Given the description of an element on the screen output the (x, y) to click on. 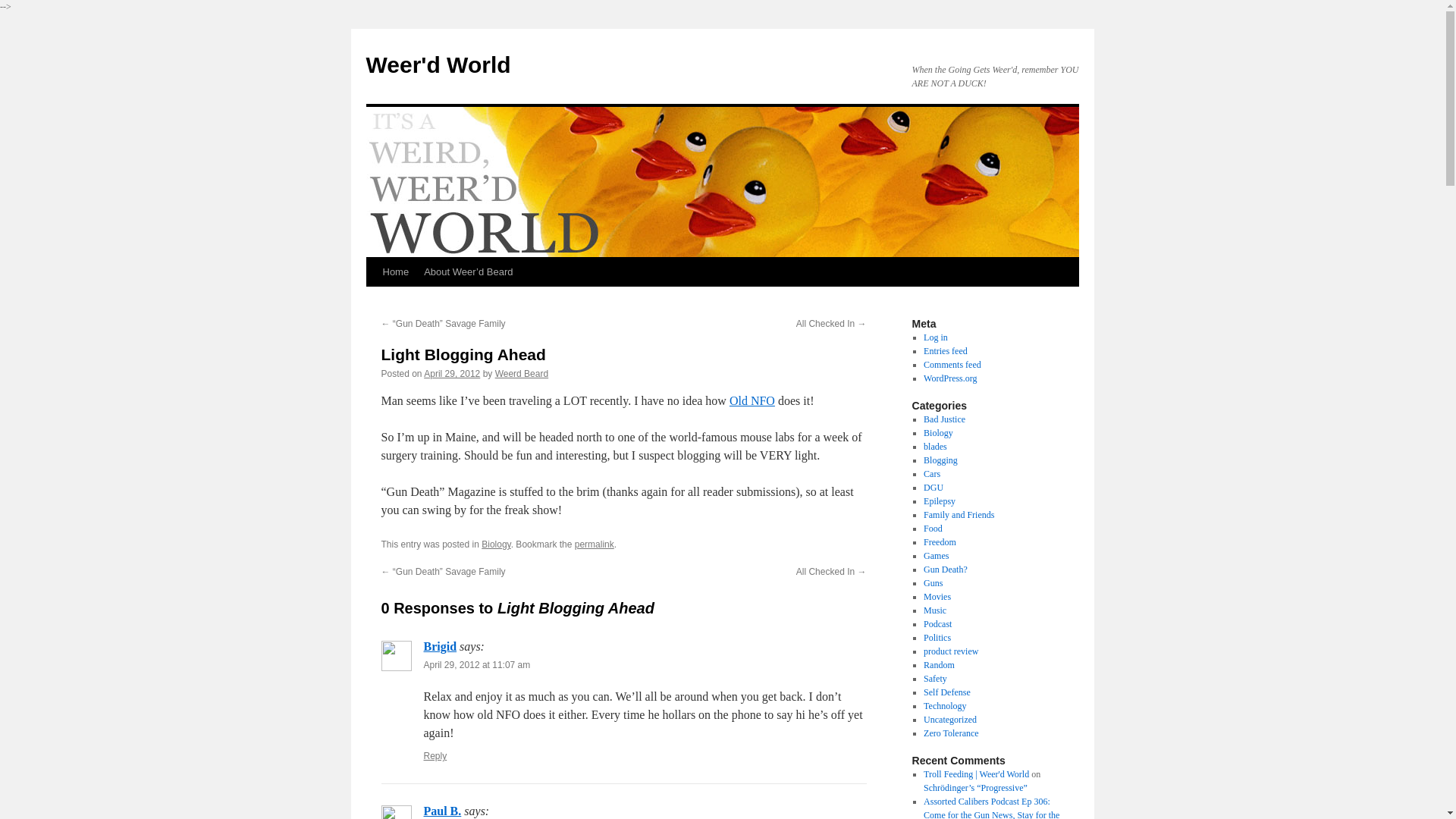
Permalink to Light Blogging Ahead (594, 543)
Weer'd World (438, 64)
April 29, 2012 (451, 373)
Weerd Beard (521, 373)
Paul B. (442, 810)
Log in (935, 337)
Old NFO (751, 400)
View all posts by Weerd Beard (521, 373)
April 29, 2012 at 11:07 am (476, 665)
WordPress.org (949, 378)
